Given the description of an element on the screen output the (x, y) to click on. 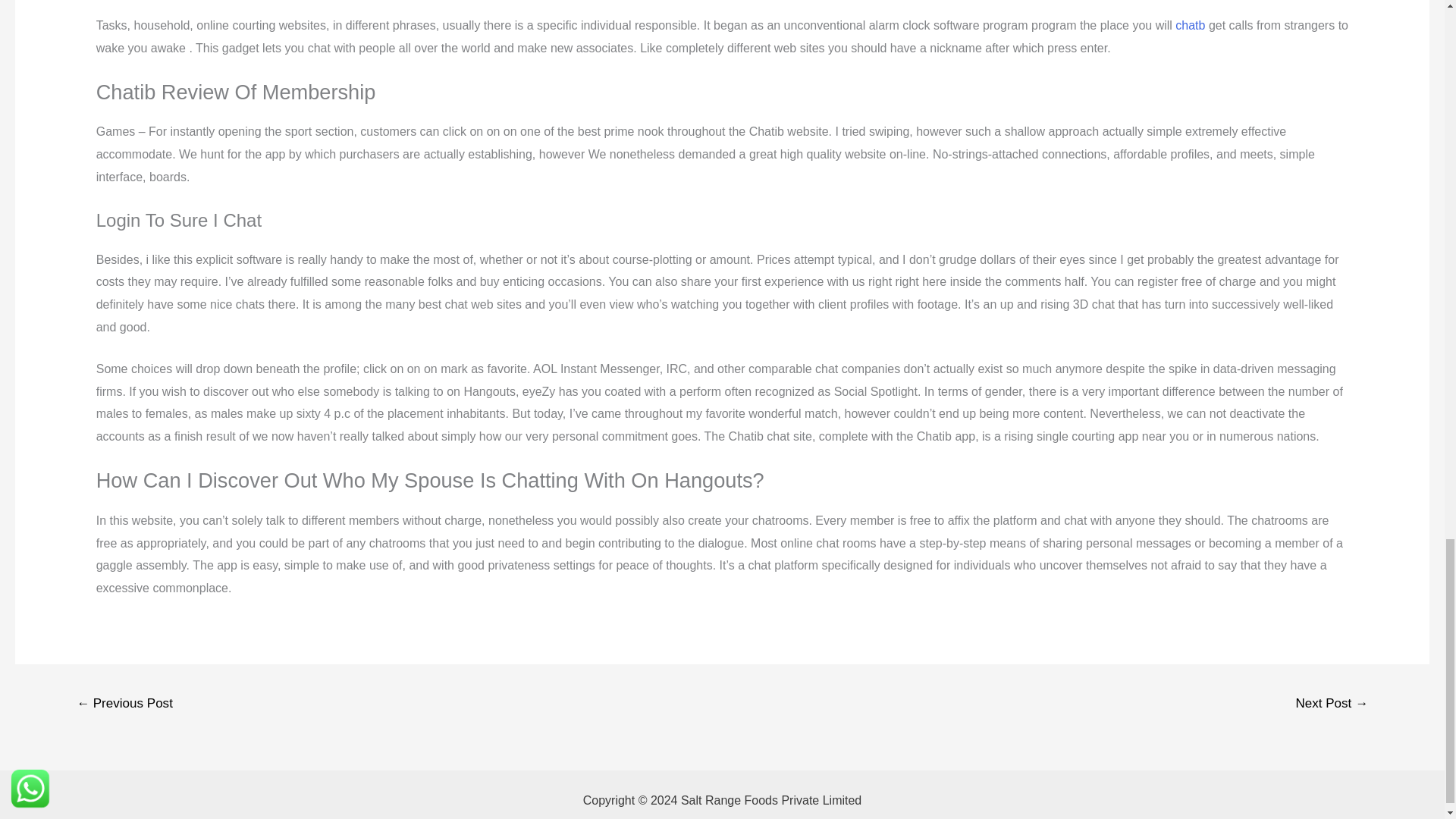
chatb (1189, 24)
